Given the description of an element on the screen output the (x, y) to click on. 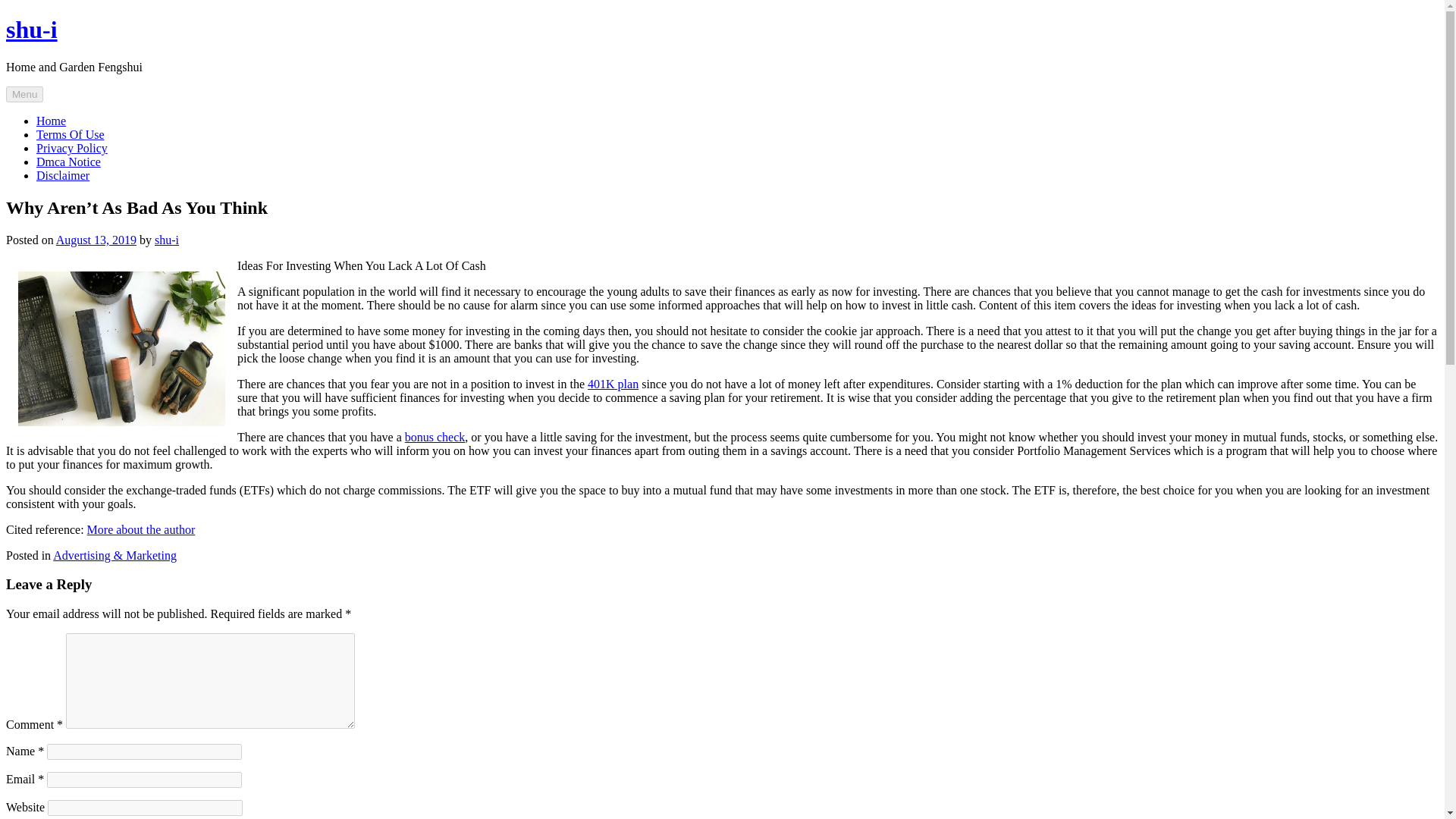
Privacy Policy (71, 147)
August 13, 2019 (96, 239)
Home (50, 120)
More about the author (141, 529)
Dmca Notice (68, 161)
shu-i (31, 29)
Disclaimer (62, 174)
shu-i (166, 239)
Terms Of Use (70, 133)
bonus check (434, 436)
401K plan (613, 383)
Menu (24, 94)
